Given the description of an element on the screen output the (x, y) to click on. 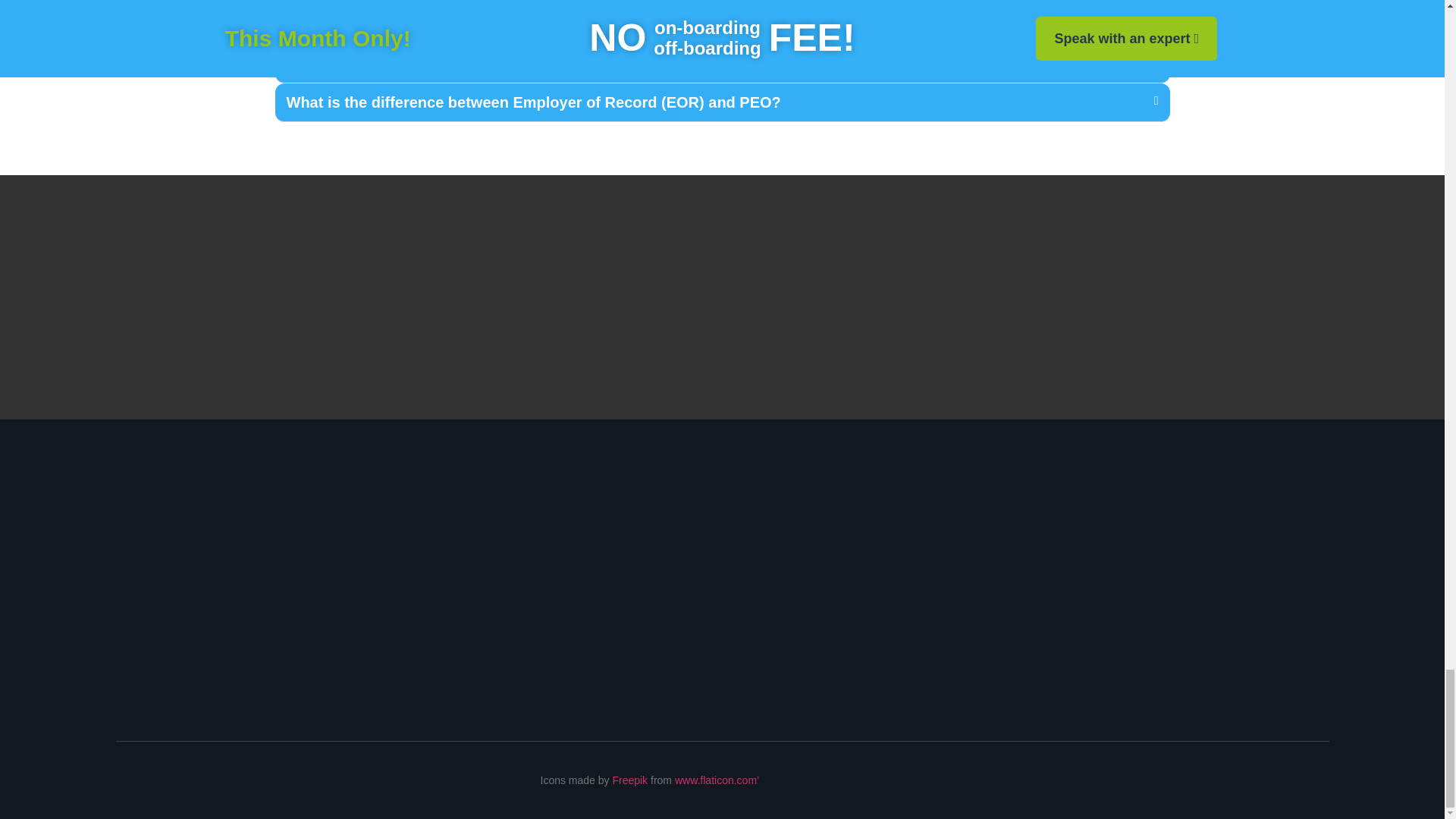
Flaticon (716, 779)
Freepik (630, 779)
